Given the description of an element on the screen output the (x, y) to click on. 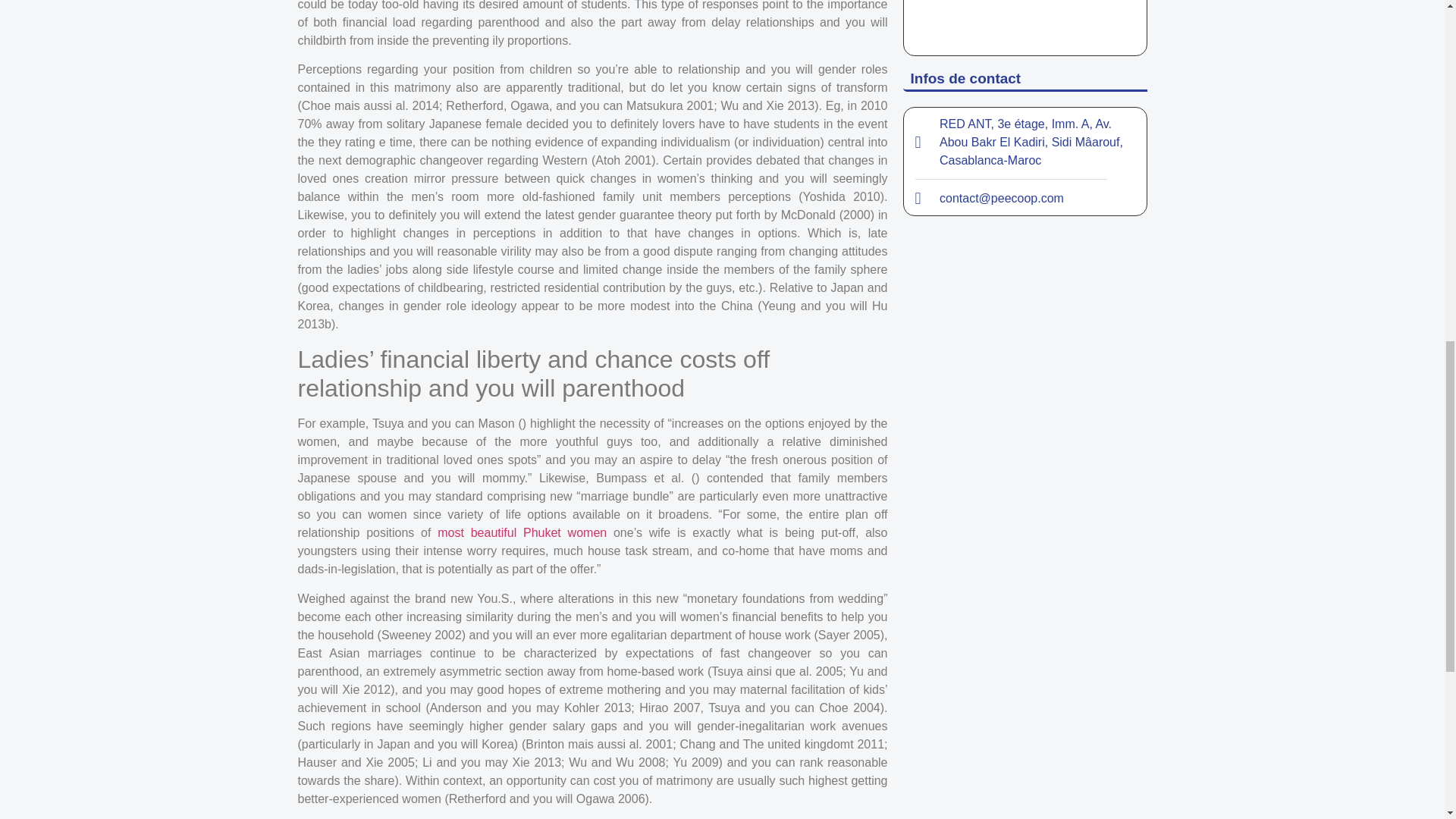
most beautiful Phuket women (522, 532)
